Given the description of an element on the screen output the (x, y) to click on. 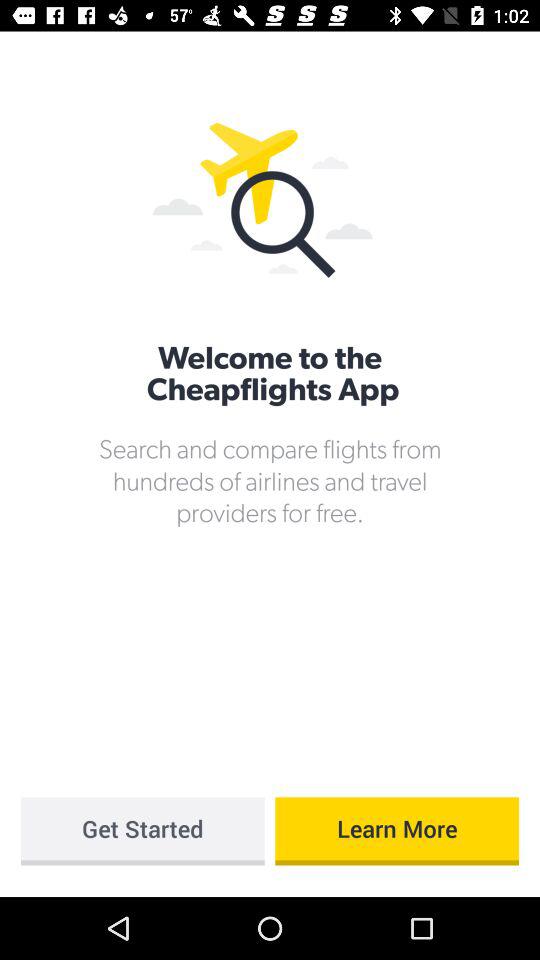
turn on learn more (397, 831)
